Given the description of an element on the screen output the (x, y) to click on. 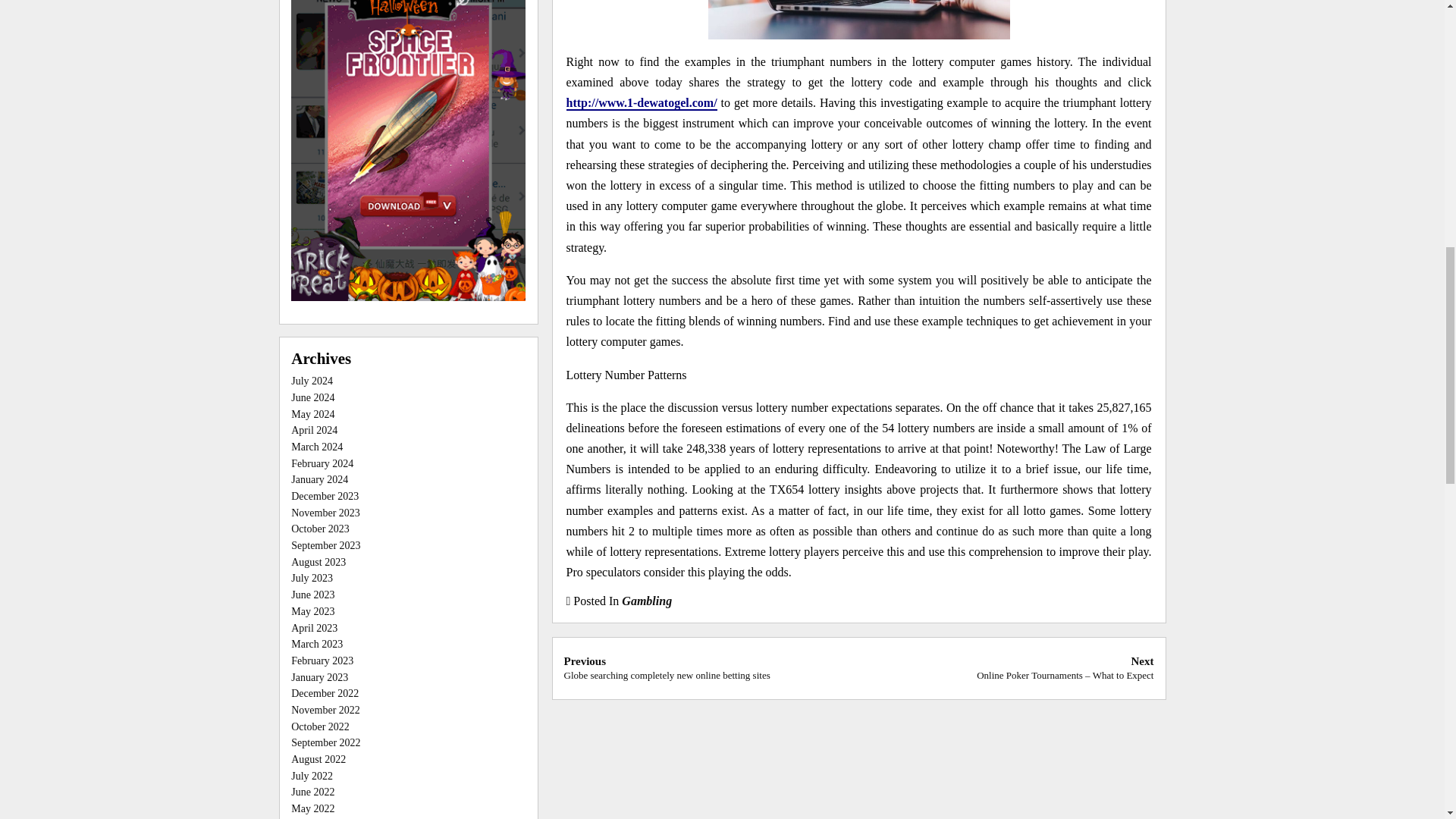
September 2023 (325, 545)
May 2024 (312, 414)
March 2024 (316, 446)
April 2024 (314, 430)
August 2023 (318, 562)
January 2024 (319, 479)
December 2023 (324, 496)
February 2024 (322, 463)
July 2023 (312, 577)
June 2024 (667, 667)
October 2023 (312, 397)
July 2024 (320, 528)
November 2023 (312, 380)
June 2023 (325, 512)
